Given the description of an element on the screen output the (x, y) to click on. 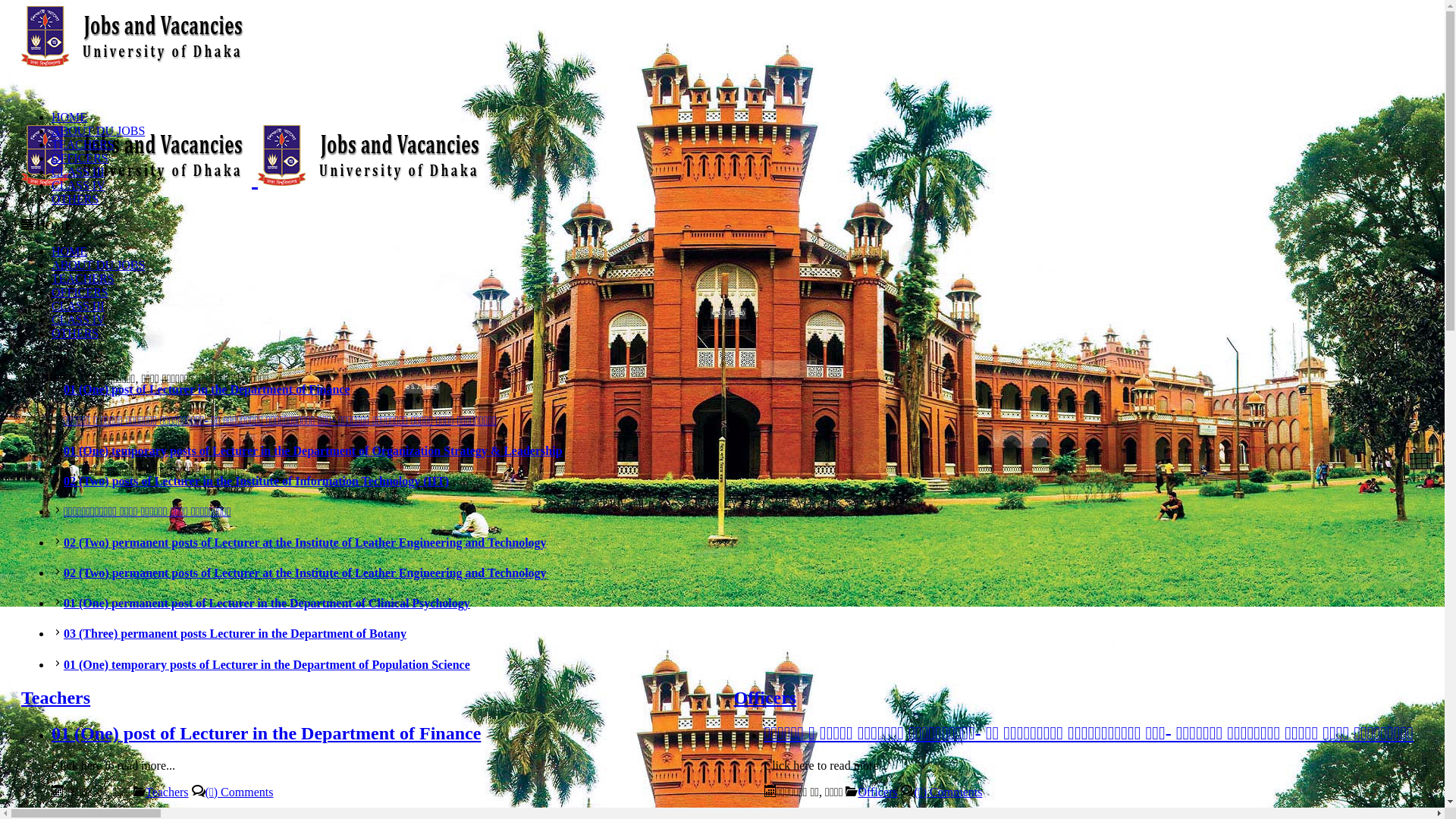
Teachers Element type: text (166, 791)
OTHERS Element type: text (74, 198)
OFFICERS Element type: text (79, 157)
HOME Element type: text (69, 116)
HOME Element type: text (69, 250)
Officers Element type: text (765, 697)
CLASS IV Element type: text (78, 184)
ABOUT DU JOBS Element type: text (97, 264)
01 (One) post of Lecturer in the Department of Finance Element type: text (265, 733)
OTHERS Element type: text (74, 332)
01 (One) post of Lecturer in the Department of Finance Element type: text (206, 388)
Teachers Element type: text (55, 697)
TEACHERS Element type: text (82, 144)
CLASS III Element type: text (77, 171)
Dhaka University Jobs Element type: hover (254, 177)
ABOUT DU JOBS Element type: text (97, 130)
Officers Element type: text (877, 791)
OFFICERS Element type: text (79, 291)
CLASS III Element type: text (77, 305)
TEACHERS Element type: text (82, 278)
CLASS IV Element type: text (78, 319)
